Given the description of an element on the screen output the (x, y) to click on. 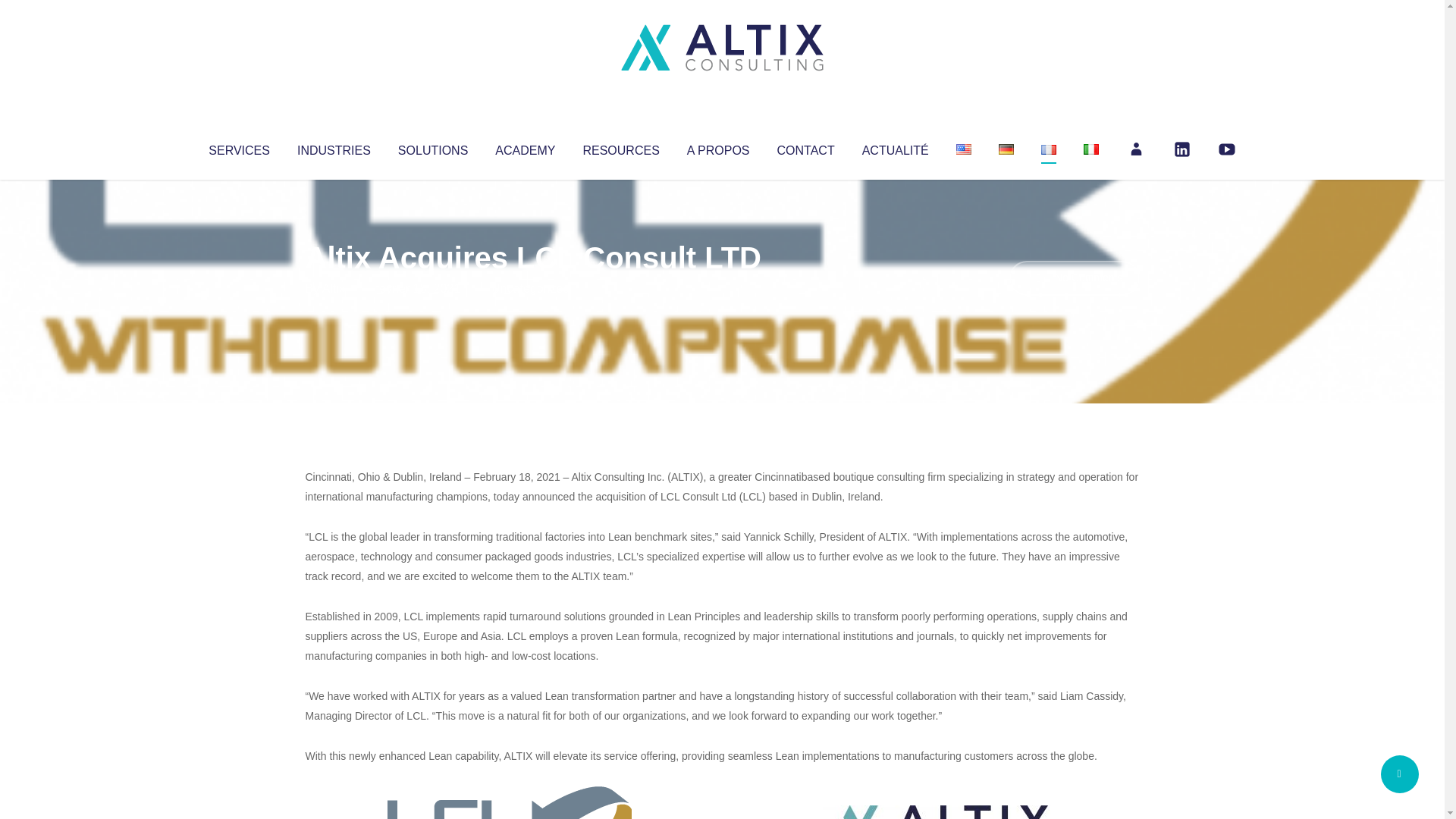
ACADEMY (524, 146)
Articles par Altix (333, 287)
SERVICES (238, 146)
Uncategorized (530, 287)
Altix (333, 287)
A PROPOS (718, 146)
SOLUTIONS (432, 146)
INDUSTRIES (334, 146)
No Comments (1073, 278)
RESOURCES (620, 146)
